Given the description of an element on the screen output the (x, y) to click on. 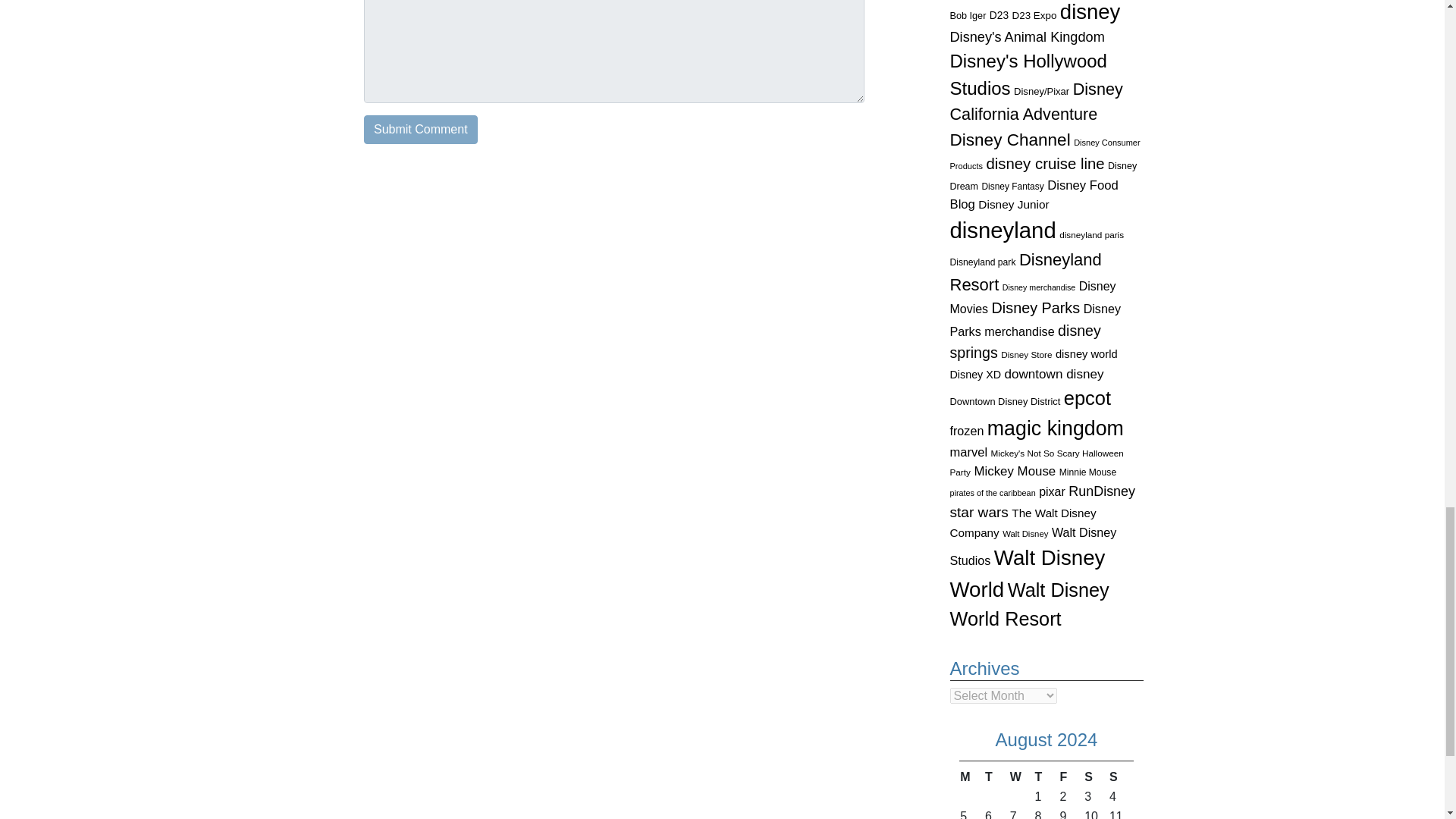
Disney's Hollywood Studios (1027, 74)
Disney Channel (1009, 139)
D23 (999, 15)
Disney California Adventure (1035, 101)
Monday (971, 777)
Thursday (1046, 777)
Tuesday (996, 777)
Friday (1070, 777)
Sunday (1121, 777)
Disney's Animal Kingdom (1026, 37)
